Given the description of an element on the screen output the (x, y) to click on. 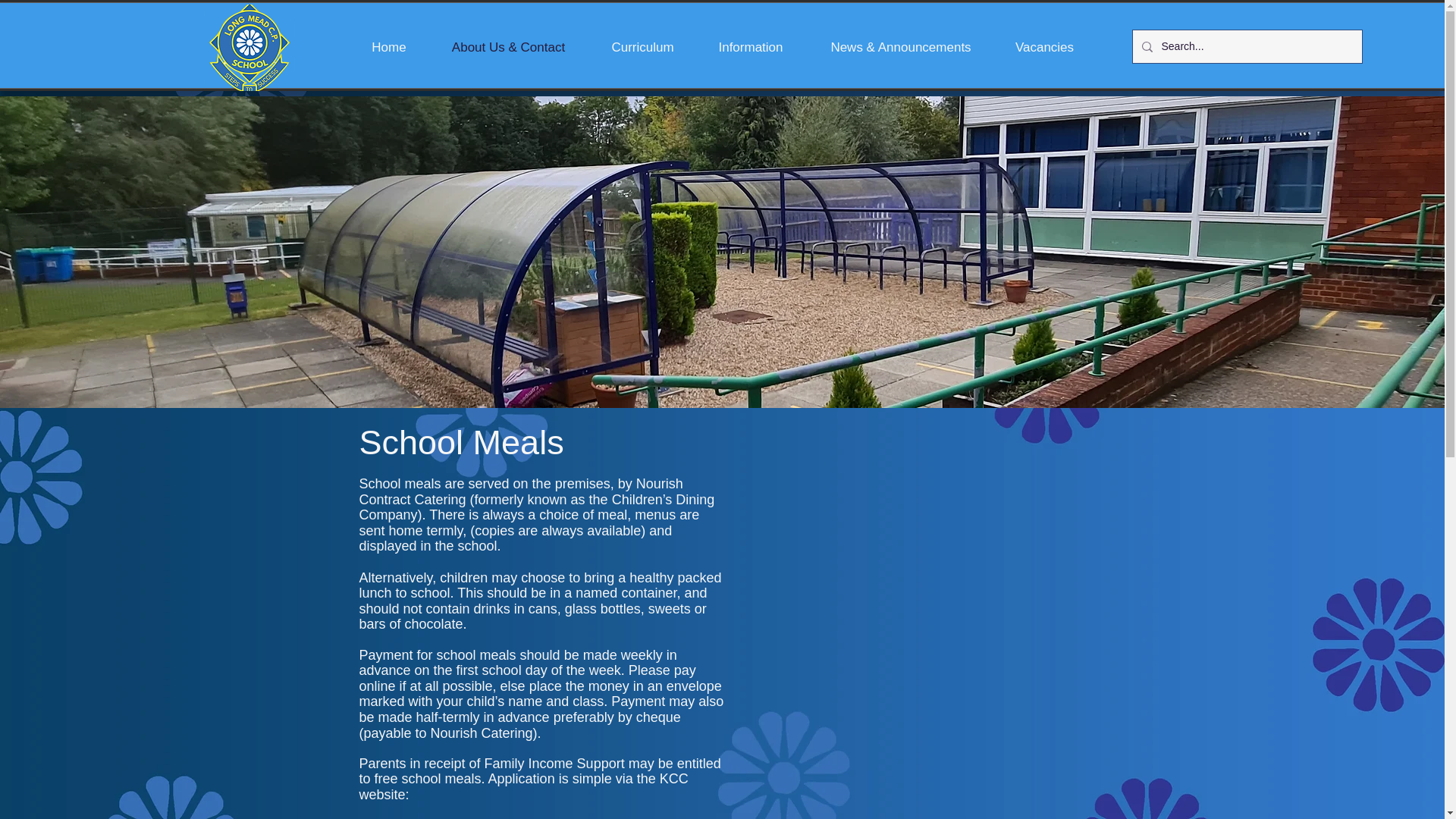
Information (750, 47)
Curriculum (642, 47)
Home (388, 47)
